Given the description of an element on the screen output the (x, y) to click on. 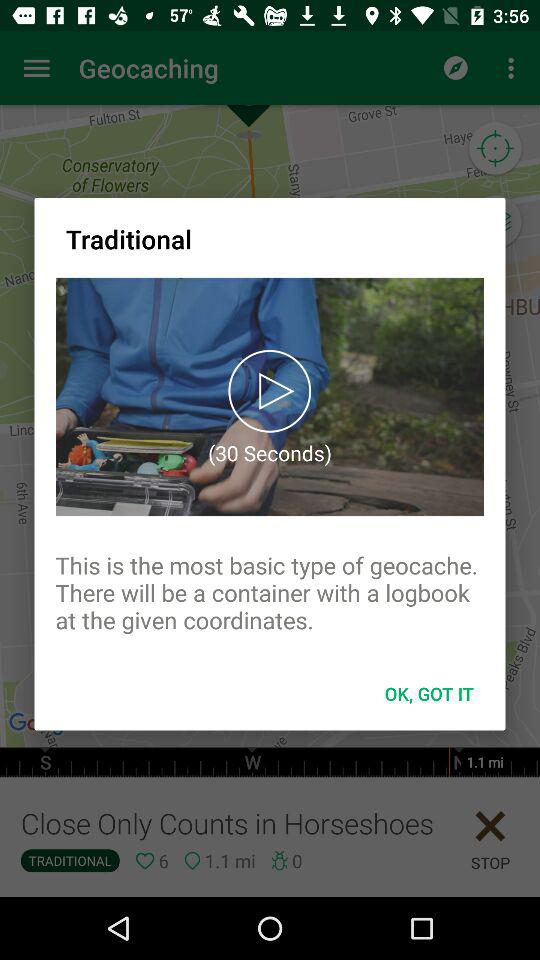
open the ok, got it icon (429, 693)
